Given the description of an element on the screen output the (x, y) to click on. 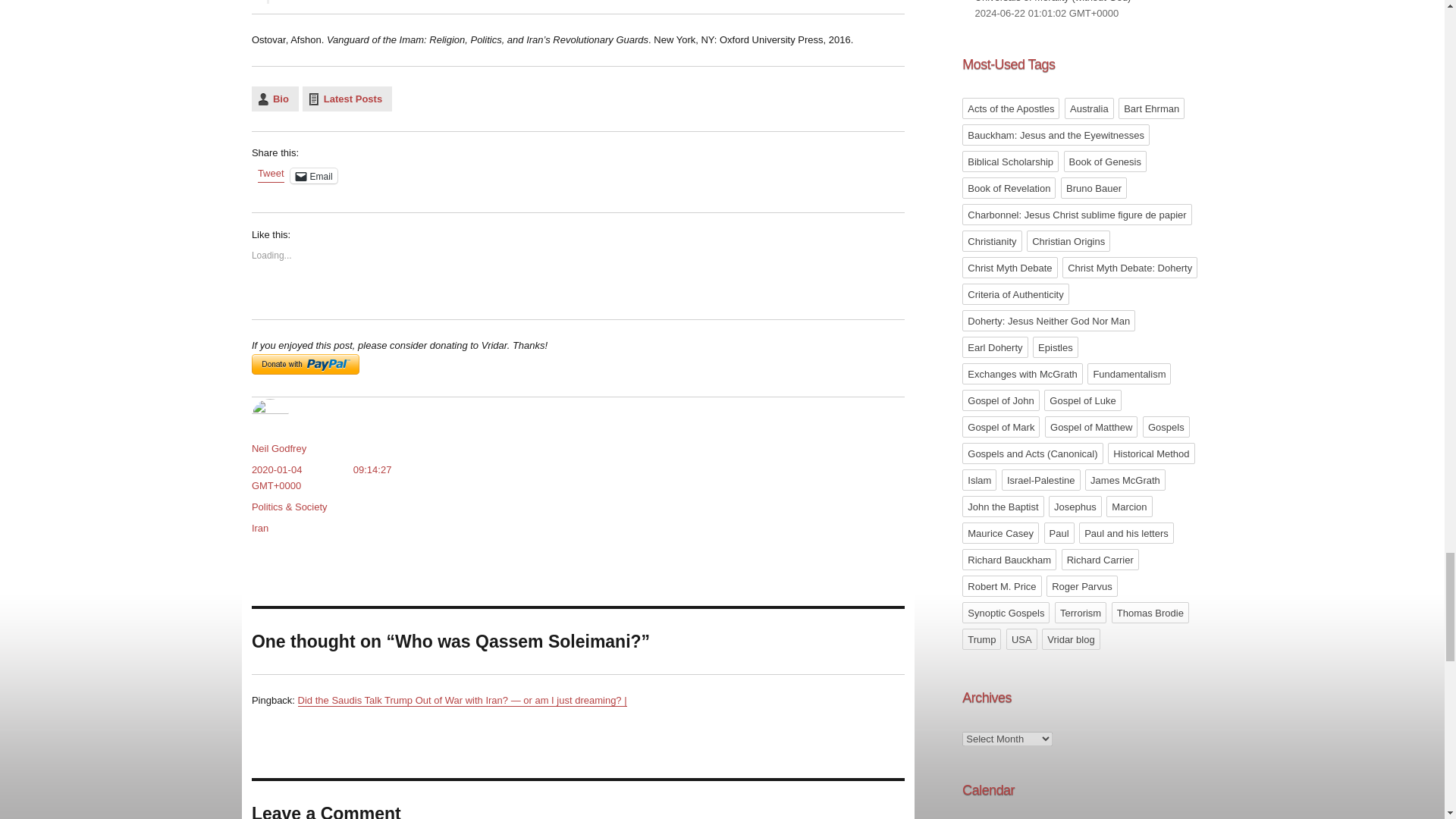
Bio (274, 98)
Latest Posts (346, 98)
Email (313, 175)
Iran (259, 527)
Neil Godfrey (278, 448)
Click to email a link to a friend (313, 175)
Tweet (270, 174)
